Given the description of an element on the screen output the (x, y) to click on. 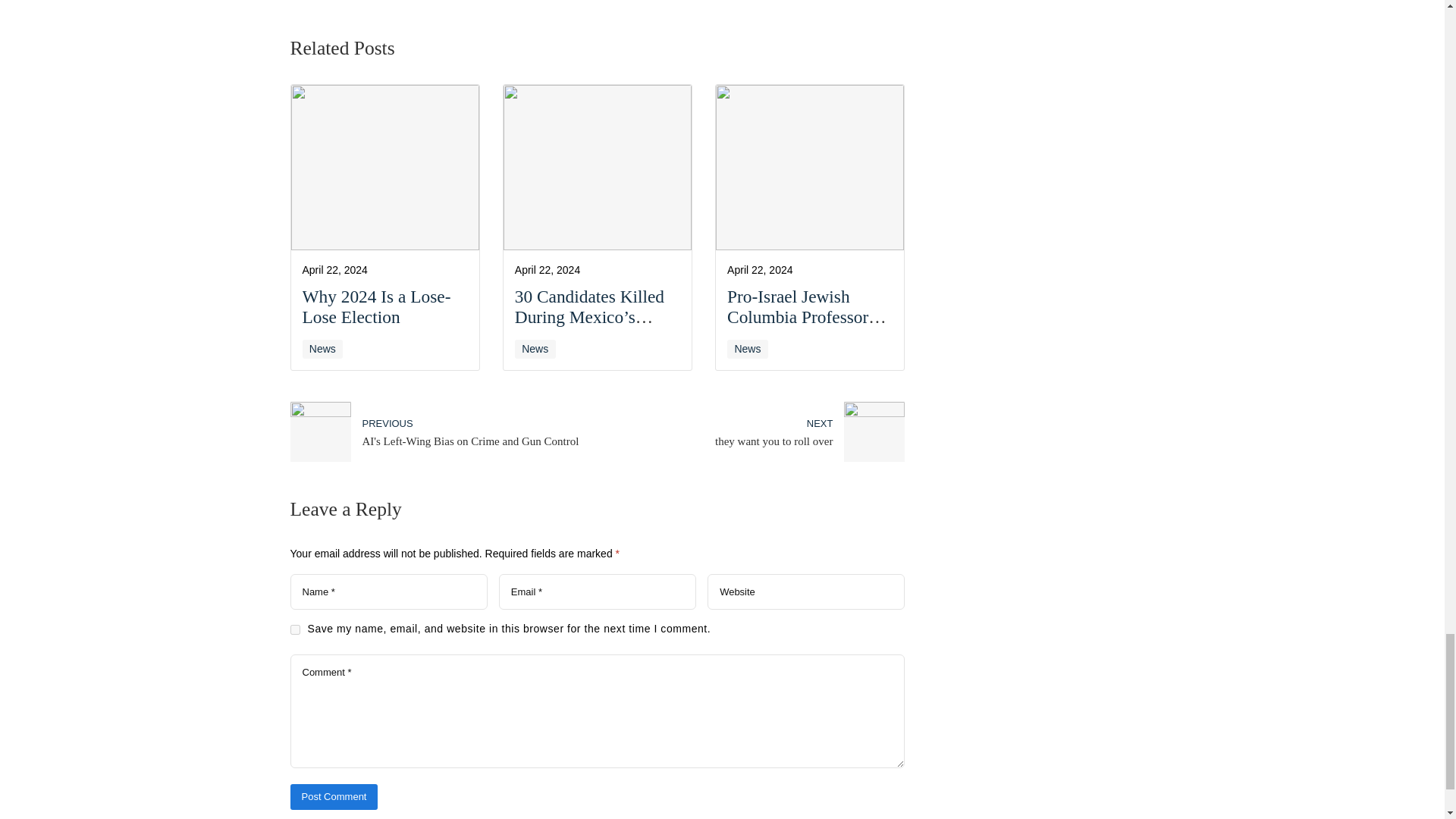
yes (294, 629)
Post Comment (333, 796)
